Given the description of an element on the screen output the (x, y) to click on. 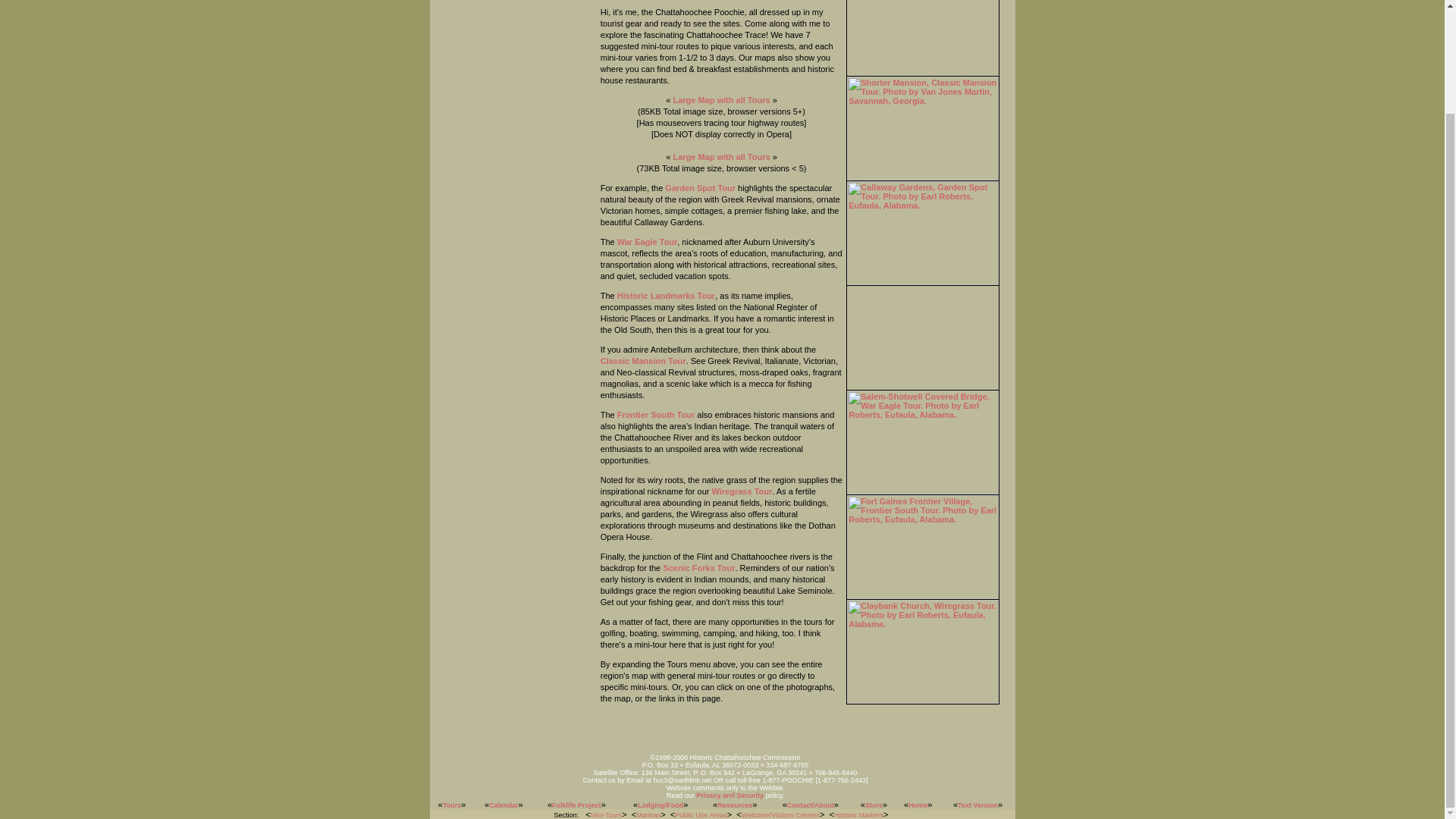
Historic Landmarks Tour (665, 295)
Webbie (771, 787)
Link to privacy policy. (728, 795)
Large Map with all Tours (721, 156)
Wiregrass Tour (741, 491)
Large Map with all Tours (721, 99)
Folklife Project (576, 805)
Frontier South Tour (655, 414)
Calendar (503, 805)
Text Menu (721, 804)
Classic Mansion Tour (642, 360)
Tours (451, 805)
Privacy and Security (728, 795)
Link to webmaster. (771, 787)
Garden Spot Tour (700, 187)
